Given the description of an element on the screen output the (x, y) to click on. 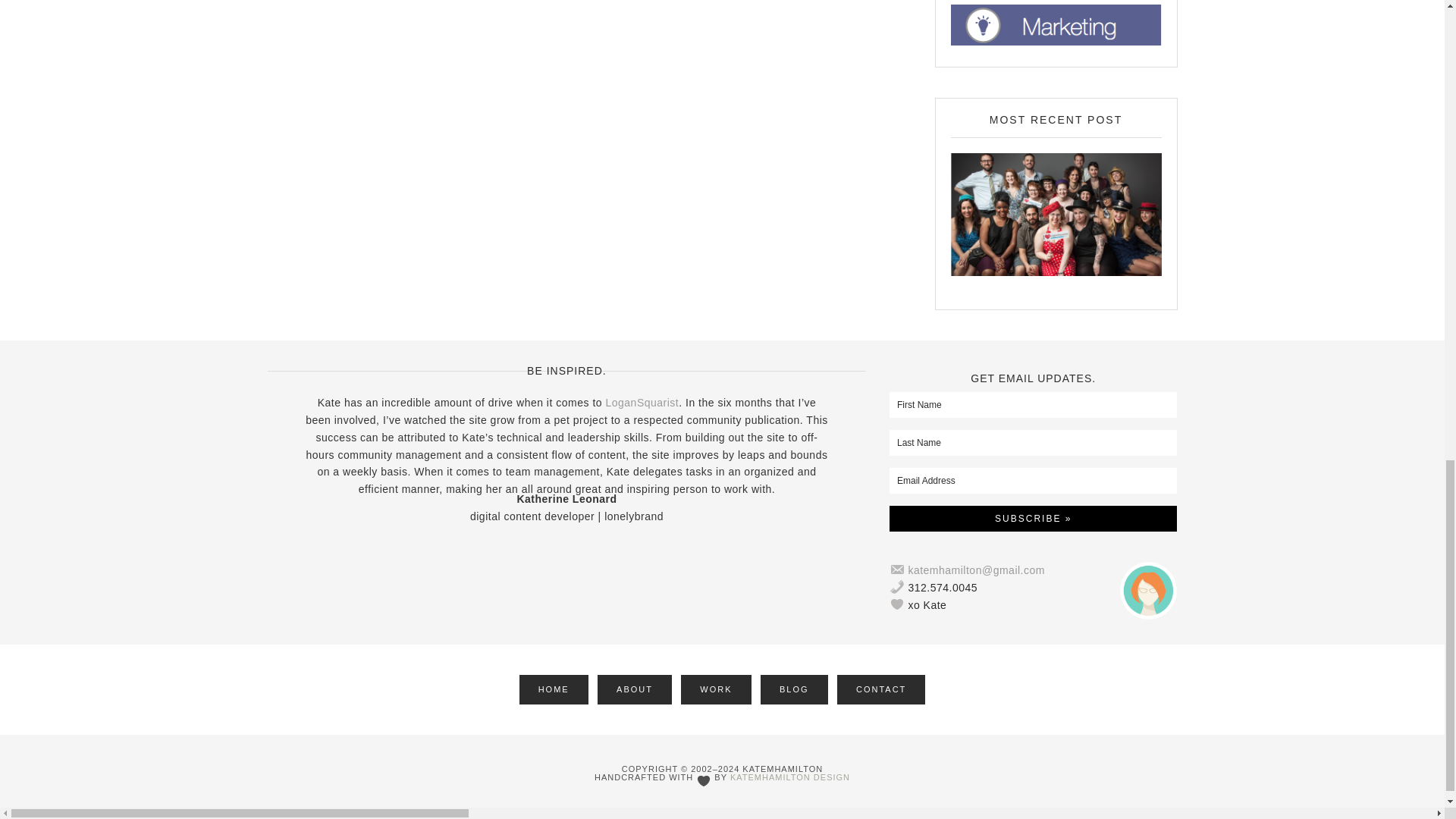
One Way to Keep Local Journalism Alive (1055, 214)
